Given the description of an element on the screen output the (x, y) to click on. 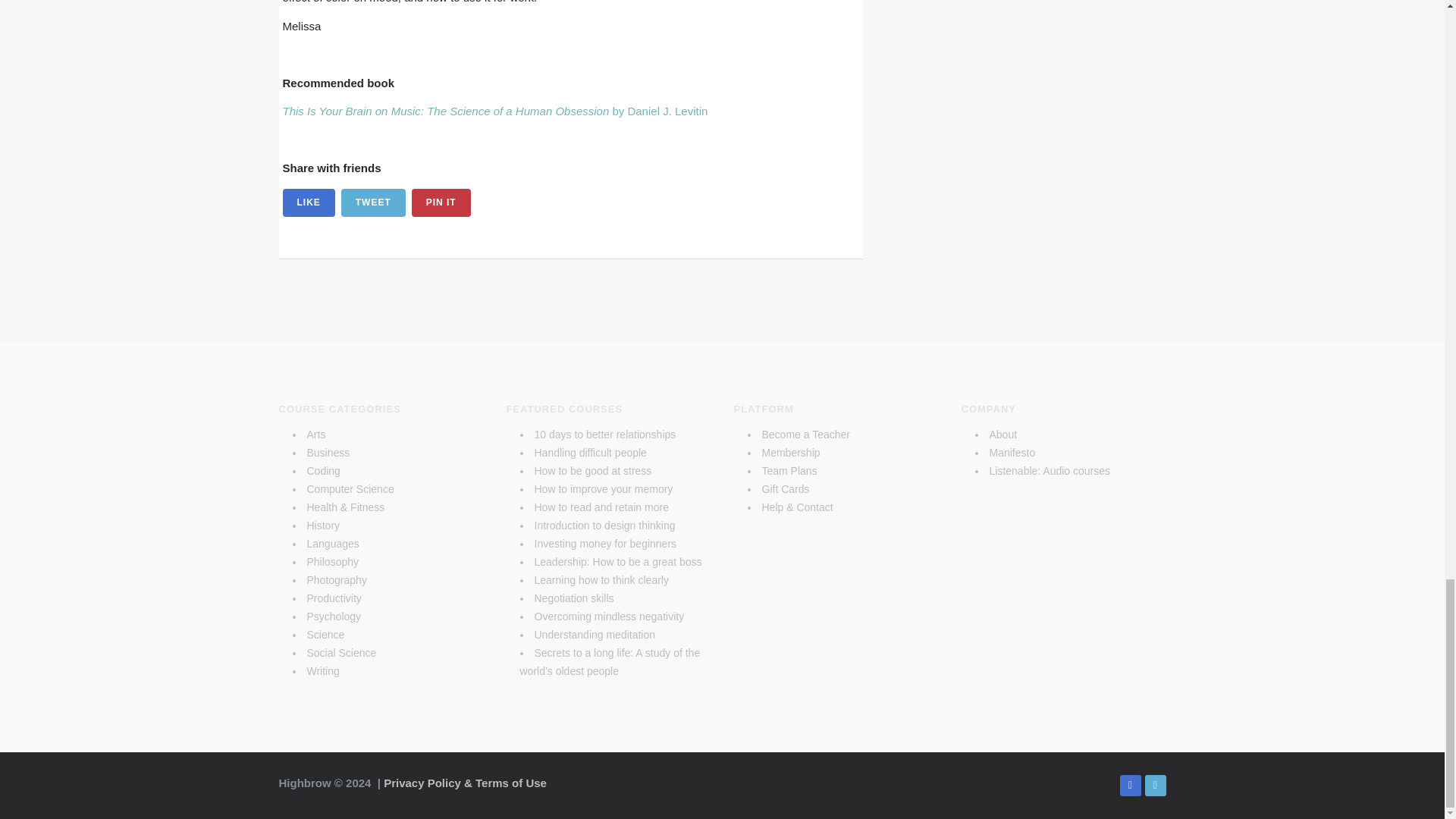
Computer Science (349, 489)
Business (327, 452)
Coding (322, 470)
Arts (314, 434)
PIN IT (441, 203)
LIKE (308, 203)
TWEET (373, 203)
Languages (331, 543)
History (322, 525)
